Given the description of an element on the screen output the (x, y) to click on. 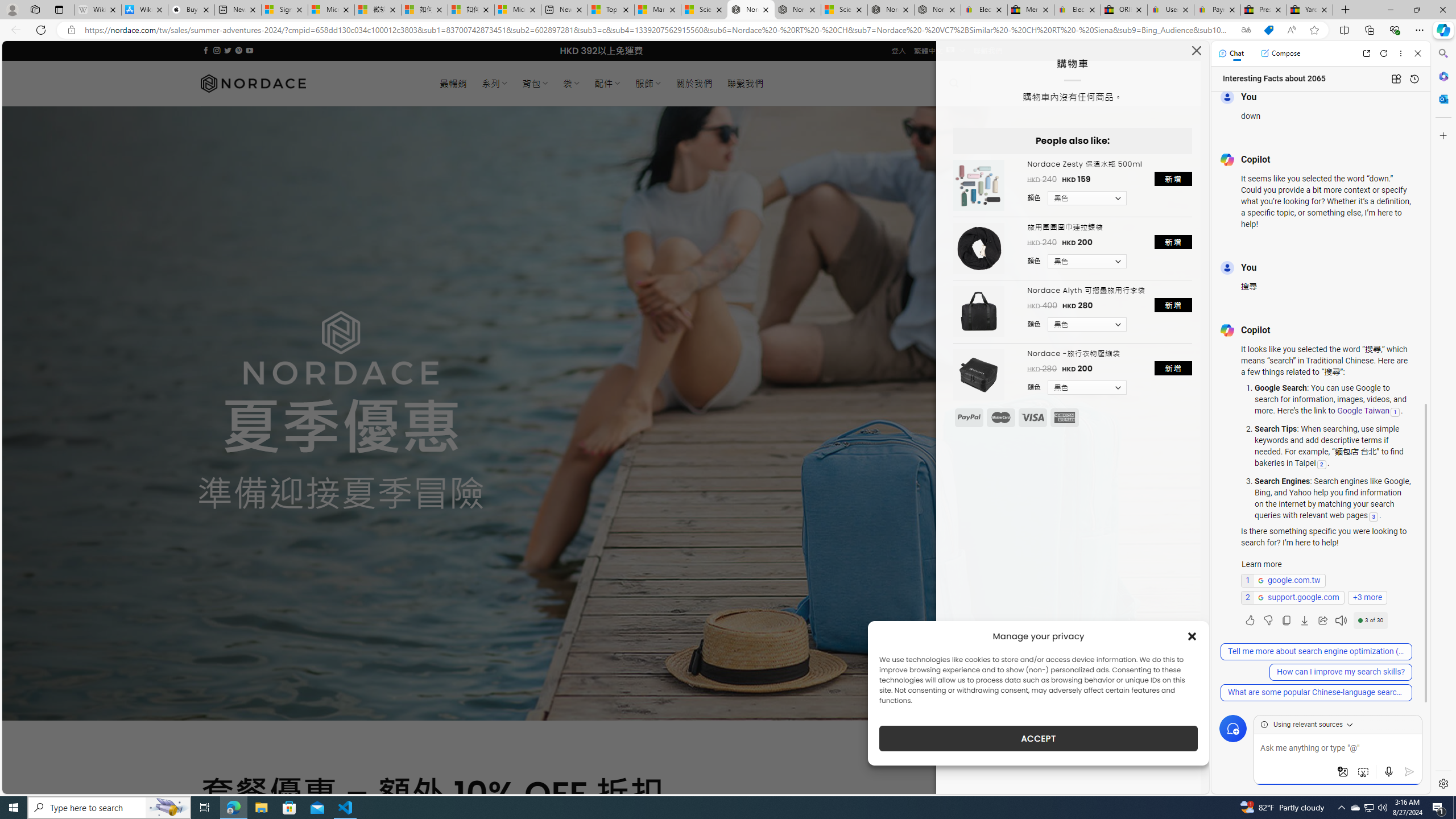
  0   (992, 83)
